Given the description of an element on the screen output the (x, y) to click on. 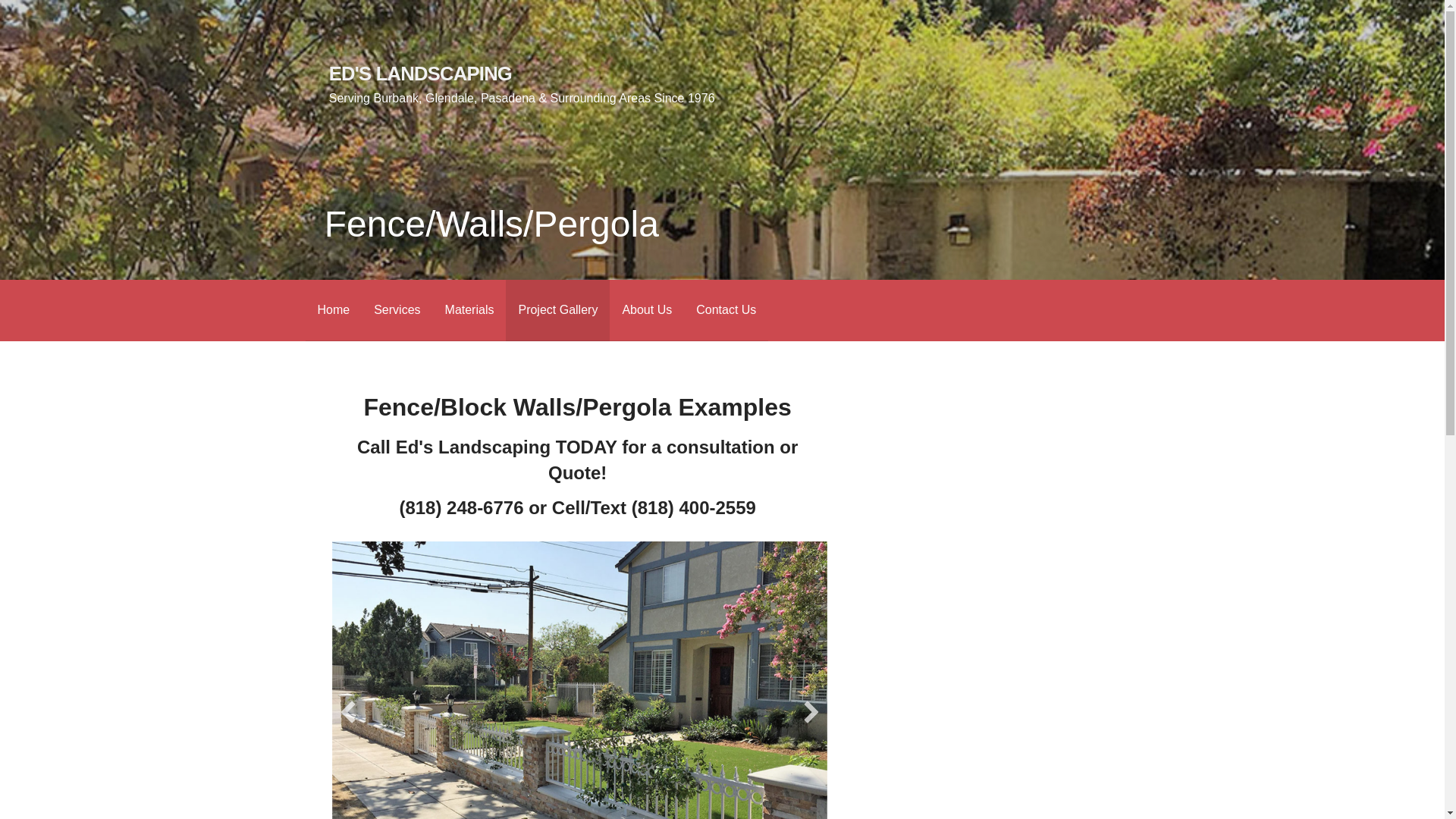
Materials (469, 310)
Services (396, 310)
About Us (647, 310)
Project Gallery (557, 310)
ED'S LANDSCAPING (420, 73)
Contact Us (726, 310)
Home (332, 310)
